Given the description of an element on the screen output the (x, y) to click on. 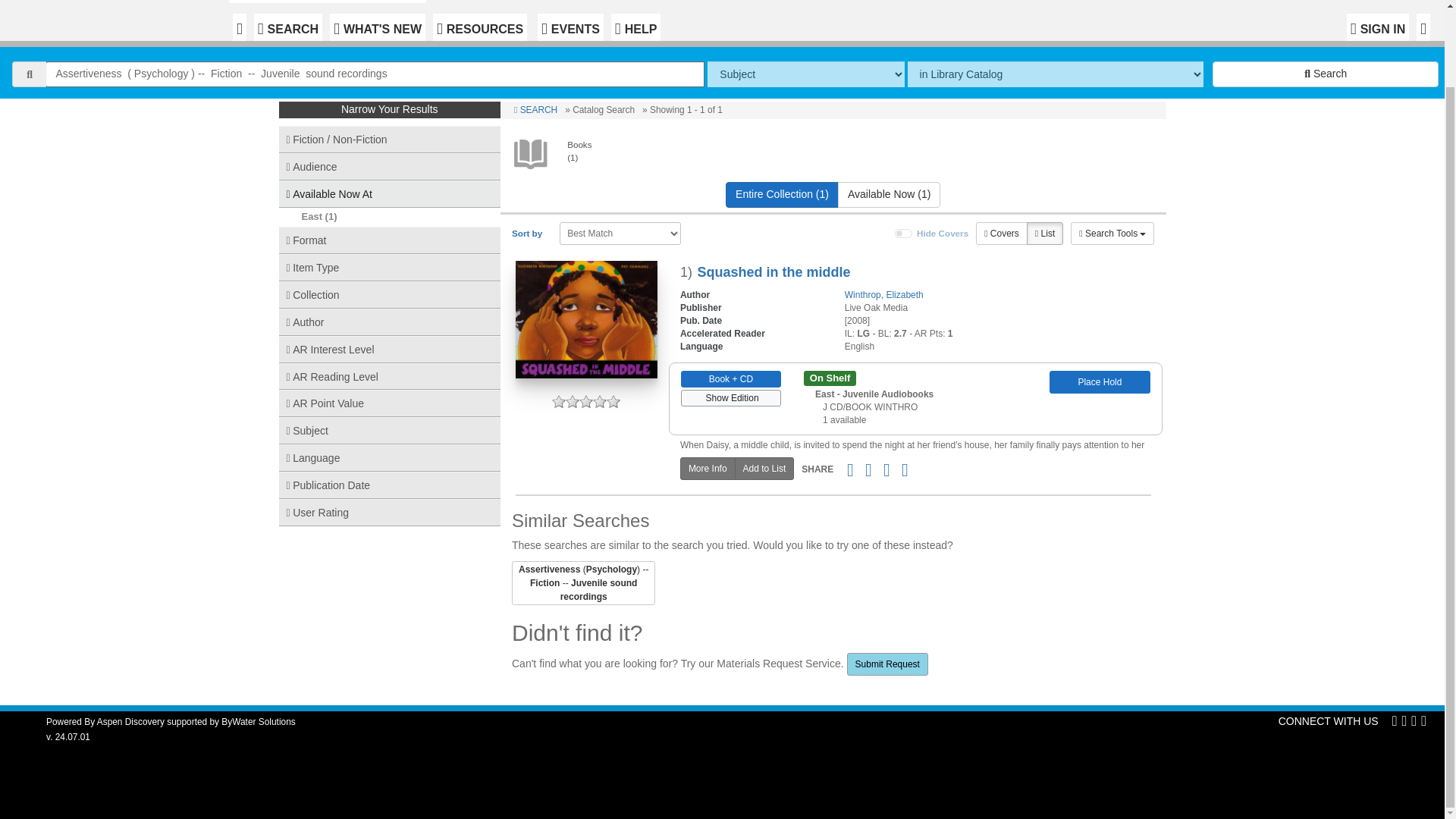
SEARCH (287, 26)
 Search (1325, 73)
WHAT'S NEW (377, 26)
Login (1377, 26)
East (311, 215)
EVENTS (570, 26)
The method of searching. (805, 73)
SIGN IN (1377, 26)
on (903, 233)
Library Home Page (330, 1)
RESOURCES (479, 26)
HELP (636, 26)
